Given the description of an element on the screen output the (x, y) to click on. 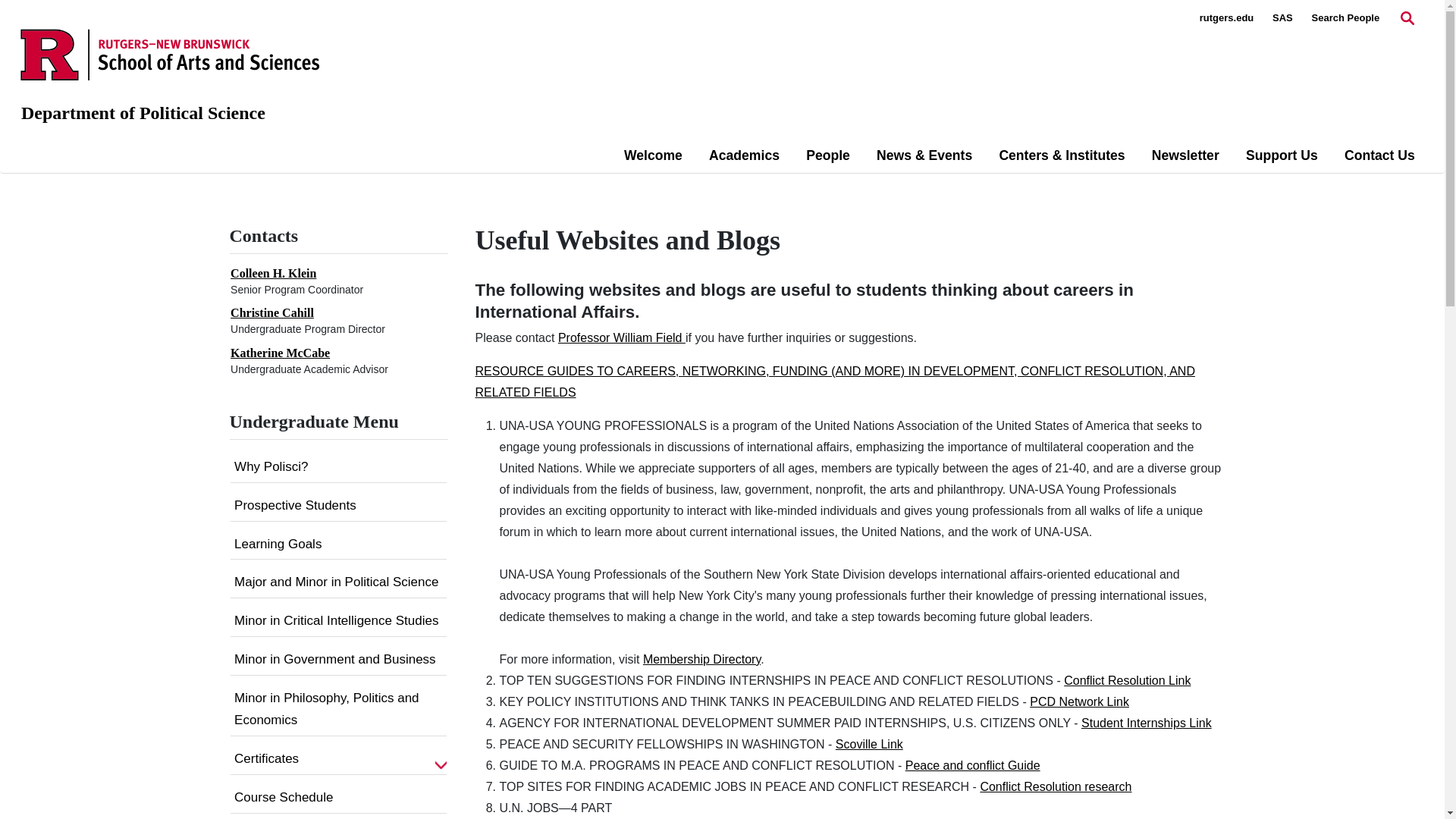
Newsletter (1185, 155)
Search People (1345, 17)
Academics (743, 155)
Welcome (653, 155)
Department of Political Science (142, 112)
rutgers.edu (1226, 17)
People (828, 155)
